Given the description of an element on the screen output the (x, y) to click on. 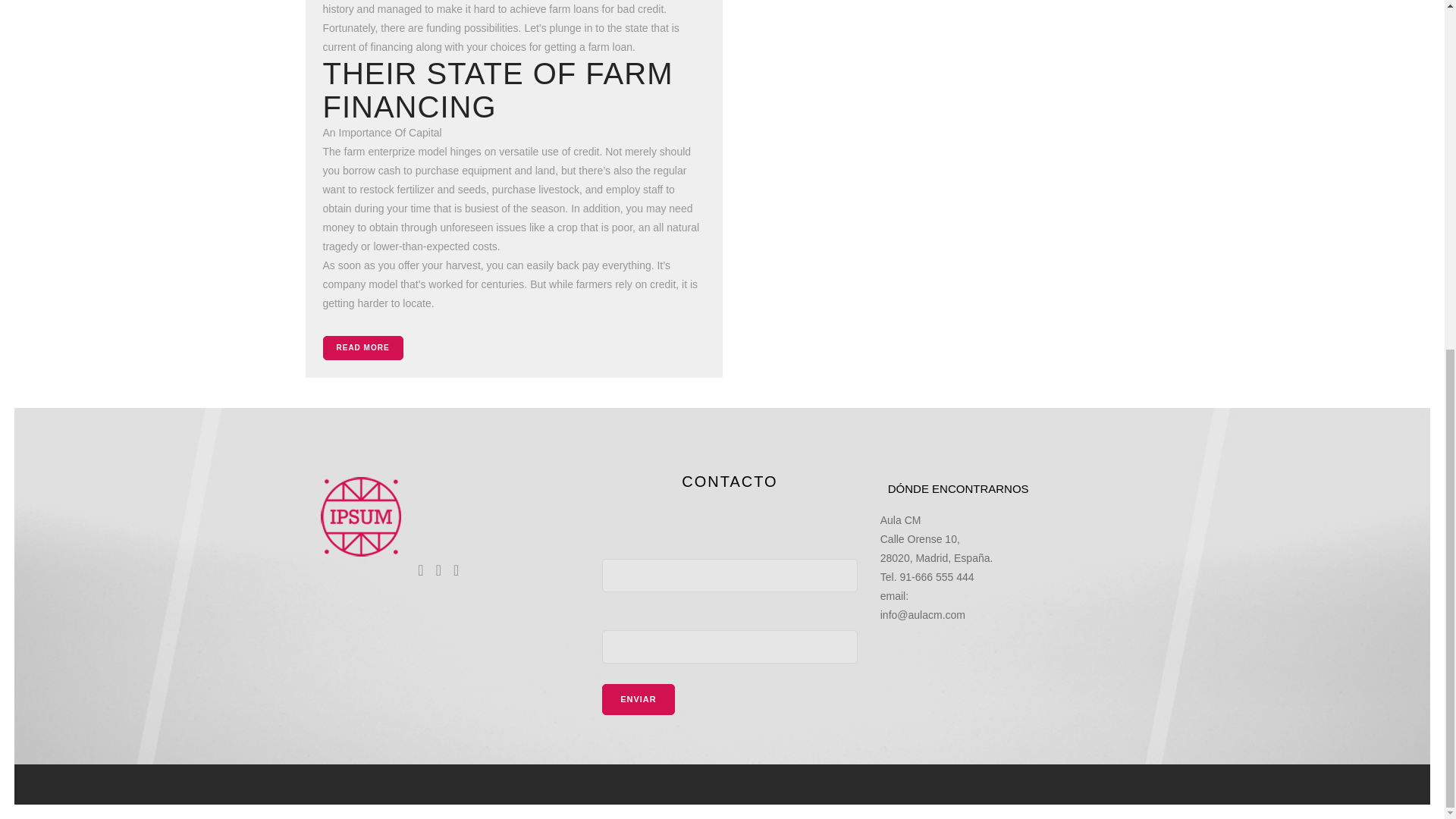
Enviar (638, 698)
READ MORE (363, 347)
Enviar (638, 698)
